Given the description of an element on the screen output the (x, y) to click on. 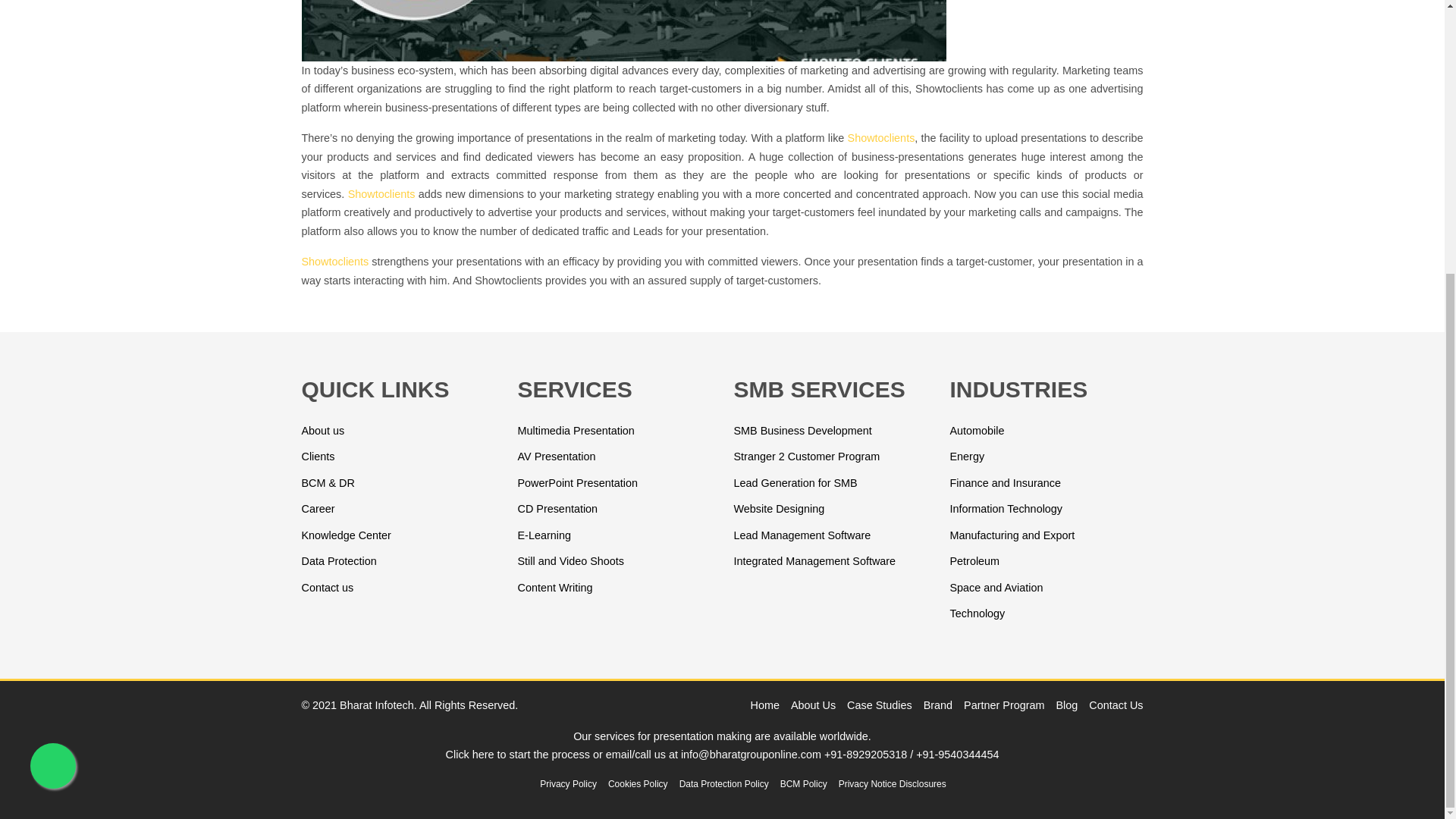
Showtoclients (380, 193)
Showtoclients (335, 261)
Showtoclients (881, 137)
About us (323, 430)
Clients (317, 456)
